Given the description of an element on the screen output the (x, y) to click on. 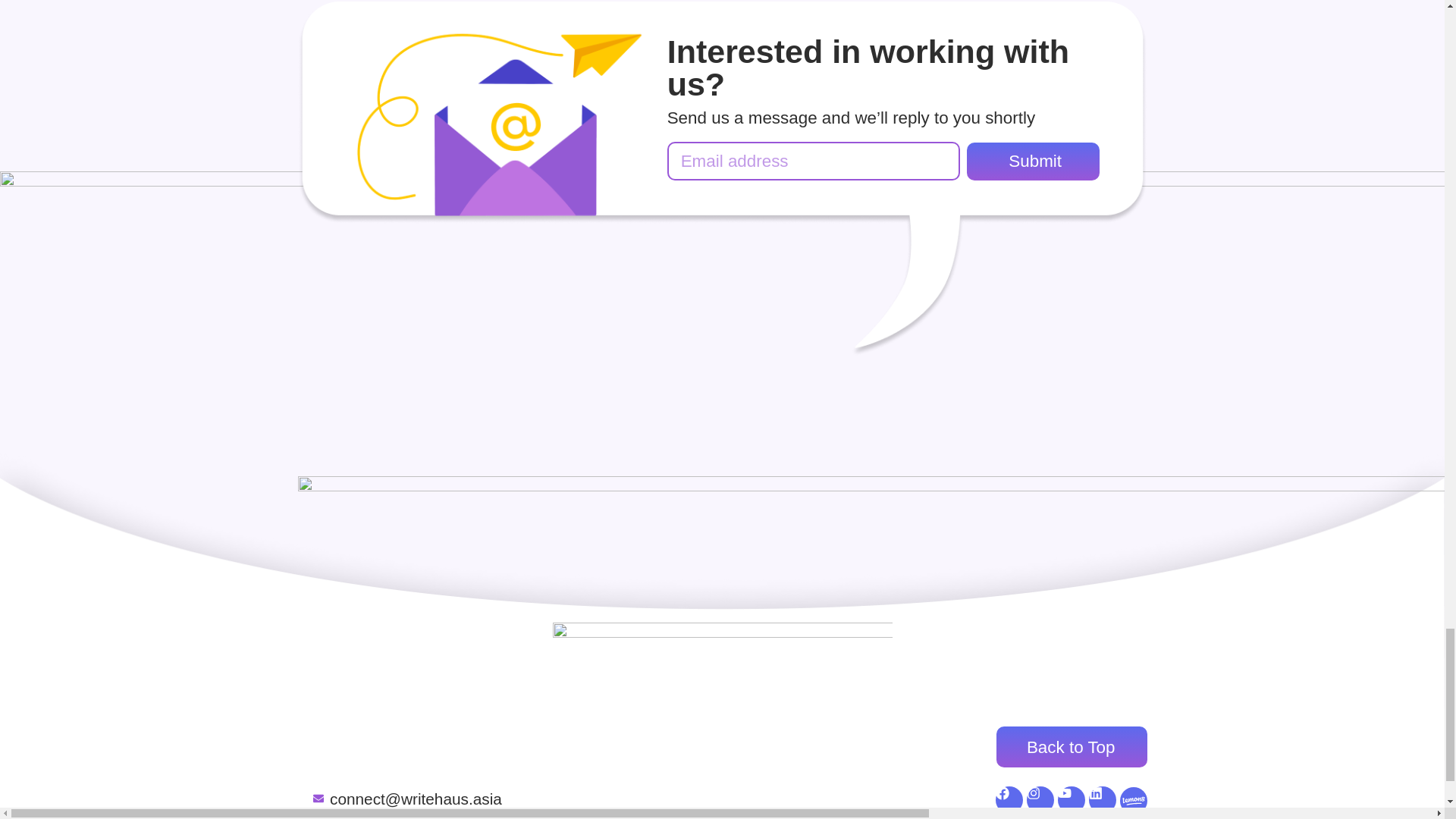
Submit (1032, 161)
Back to Top (1071, 746)
